Given the description of an element on the screen output the (x, y) to click on. 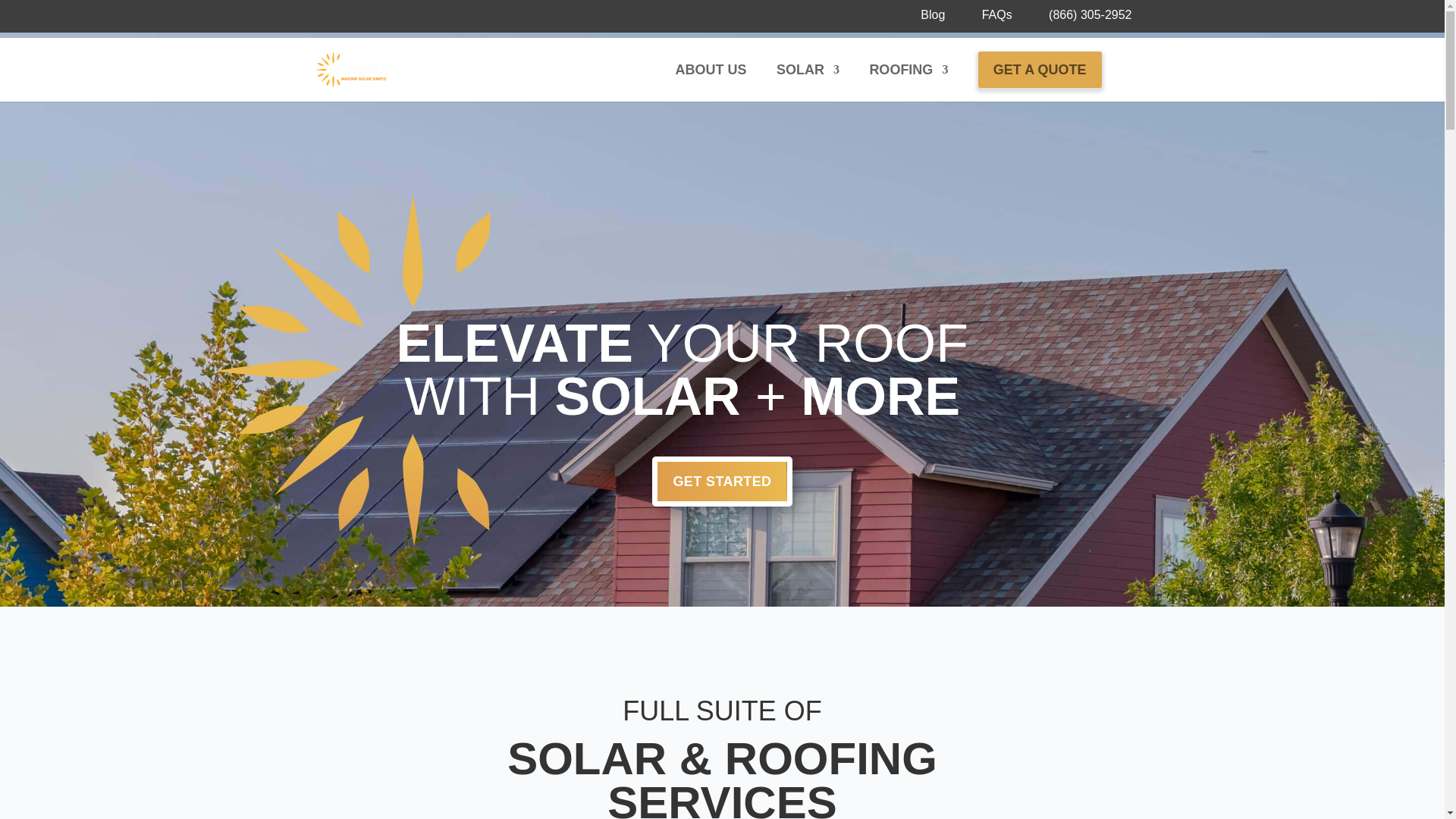
GET STARTED (722, 481)
Blog (932, 19)
GET A QUOTE (1040, 69)
ABOUT US (710, 82)
ROOFING (908, 82)
SOLAR (808, 82)
FAQs (996, 19)
